Given the description of an element on the screen output the (x, y) to click on. 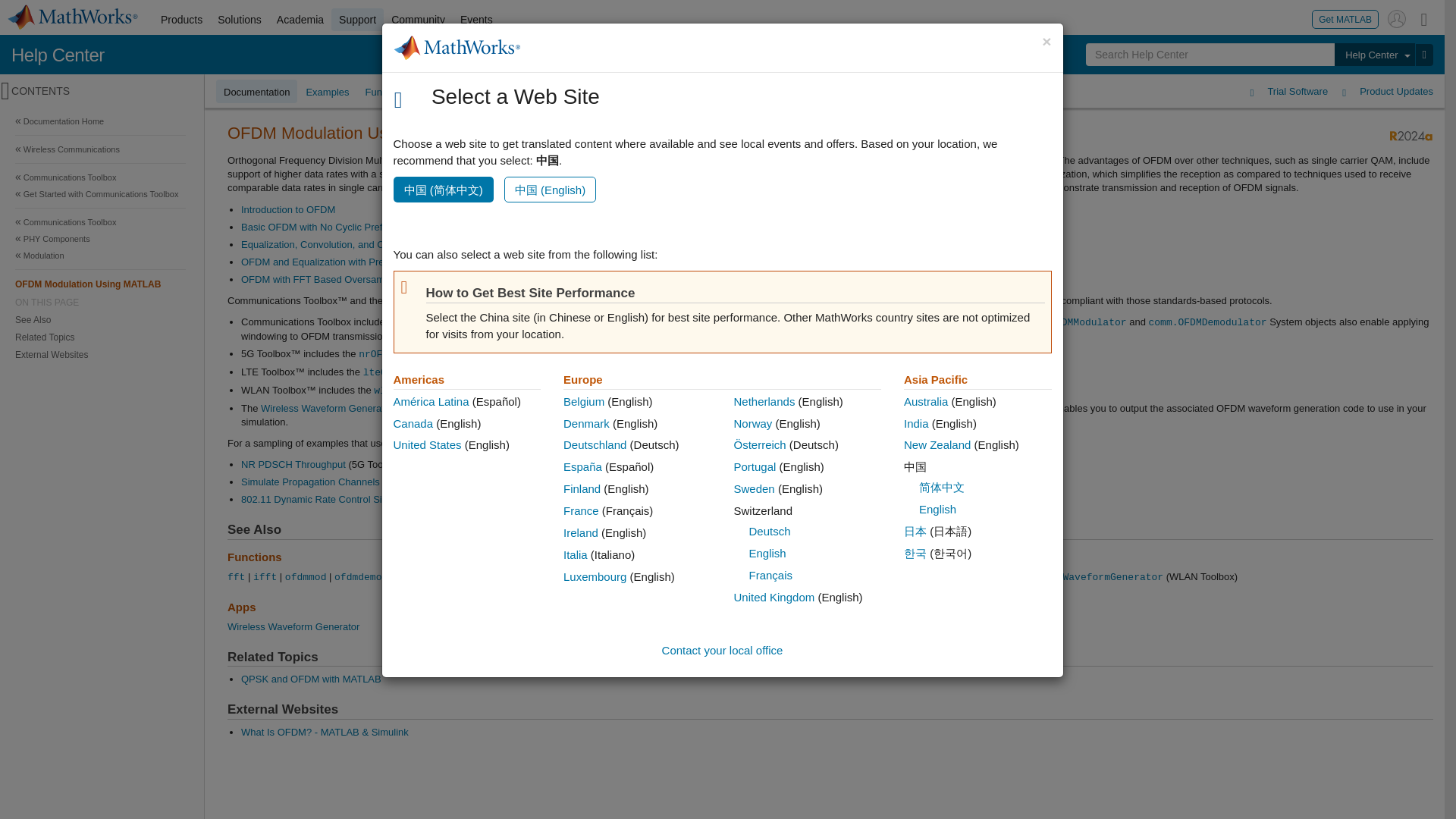
Get MATLAB (1344, 18)
Sign In to Your MathWorks Account (1396, 18)
OFDM Modulation Using MATLAB (100, 283)
Matrix Menu (1423, 18)
Support (357, 19)
ON THIS PAGE (100, 302)
Events (476, 19)
Community (418, 19)
Products (180, 19)
Academia (300, 19)
Solutions (239, 19)
